Given the description of an element on the screen output the (x, y) to click on. 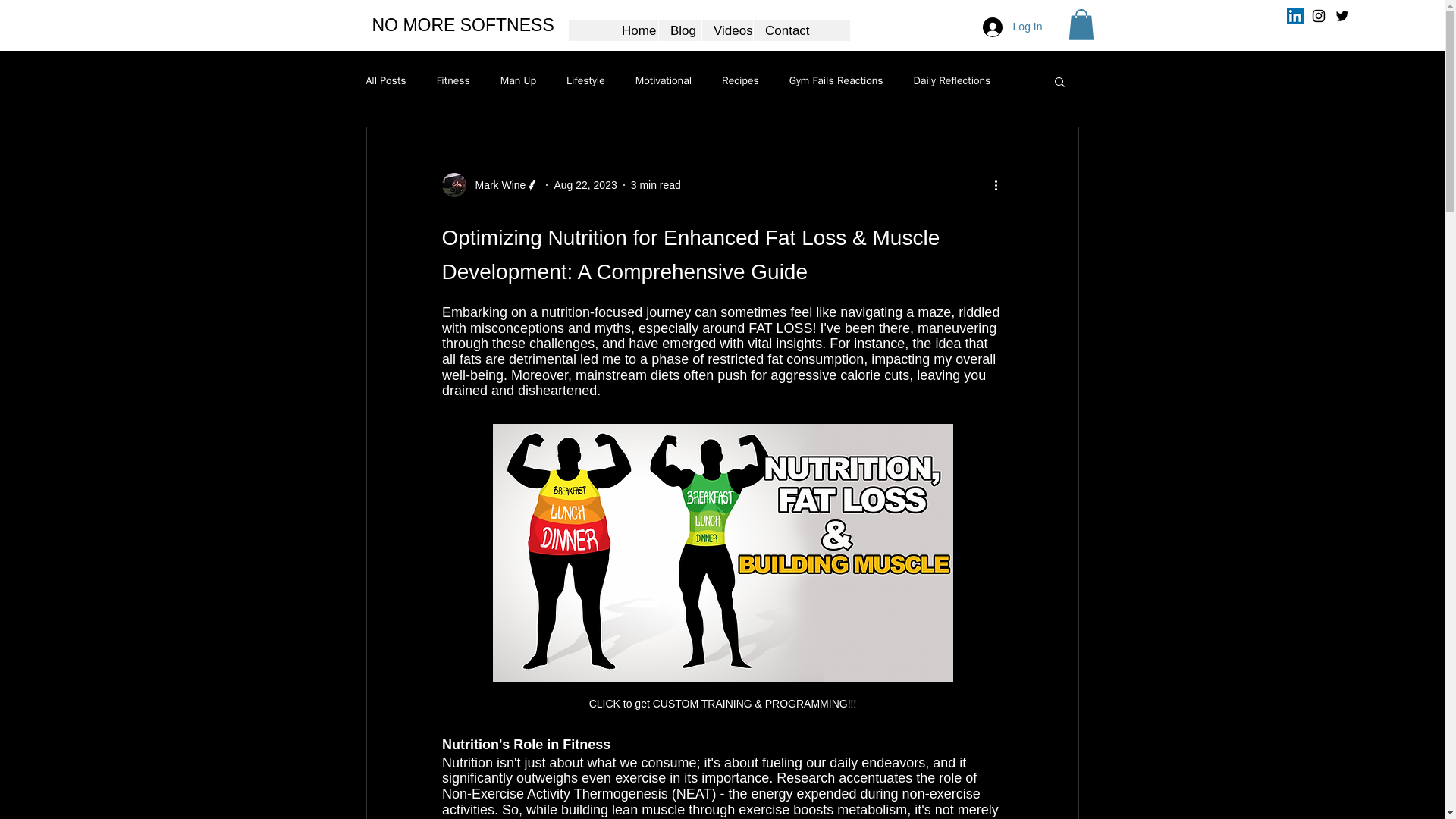
Blog (679, 30)
Lifestyle (585, 80)
3 min read (655, 184)
Man Up (517, 80)
Mark Wine (490, 184)
Motivational (662, 80)
Videos (726, 30)
Home (634, 30)
Aug 22, 2023 (584, 184)
NO MORE SOFTNESS (462, 25)
Fitness (453, 80)
Log In (1012, 27)
Recipes (740, 80)
Contact (780, 30)
Daily Reflections (952, 80)
